Given the description of an element on the screen output the (x, y) to click on. 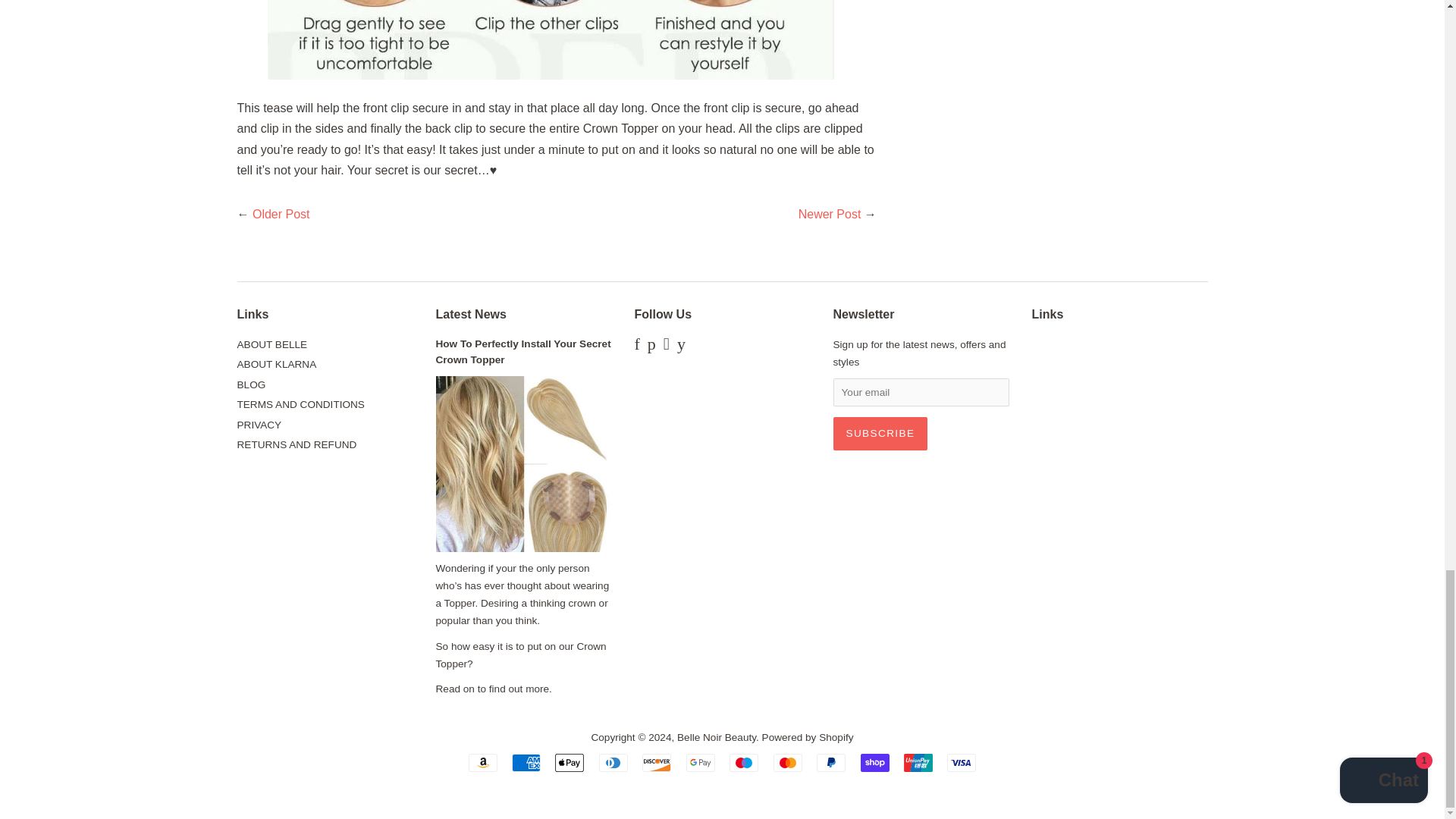
Amazon (482, 762)
Diners Club (612, 762)
American Express (526, 762)
Mastercard (787, 762)
Visa (961, 762)
Google Pay (699, 762)
Apple Pay (568, 762)
Shop Pay (874, 762)
PayPal (830, 762)
Discover (656, 762)
Maestro (743, 762)
Union Pay (918, 762)
Subscribe (879, 433)
